Given the description of an element on the screen output the (x, y) to click on. 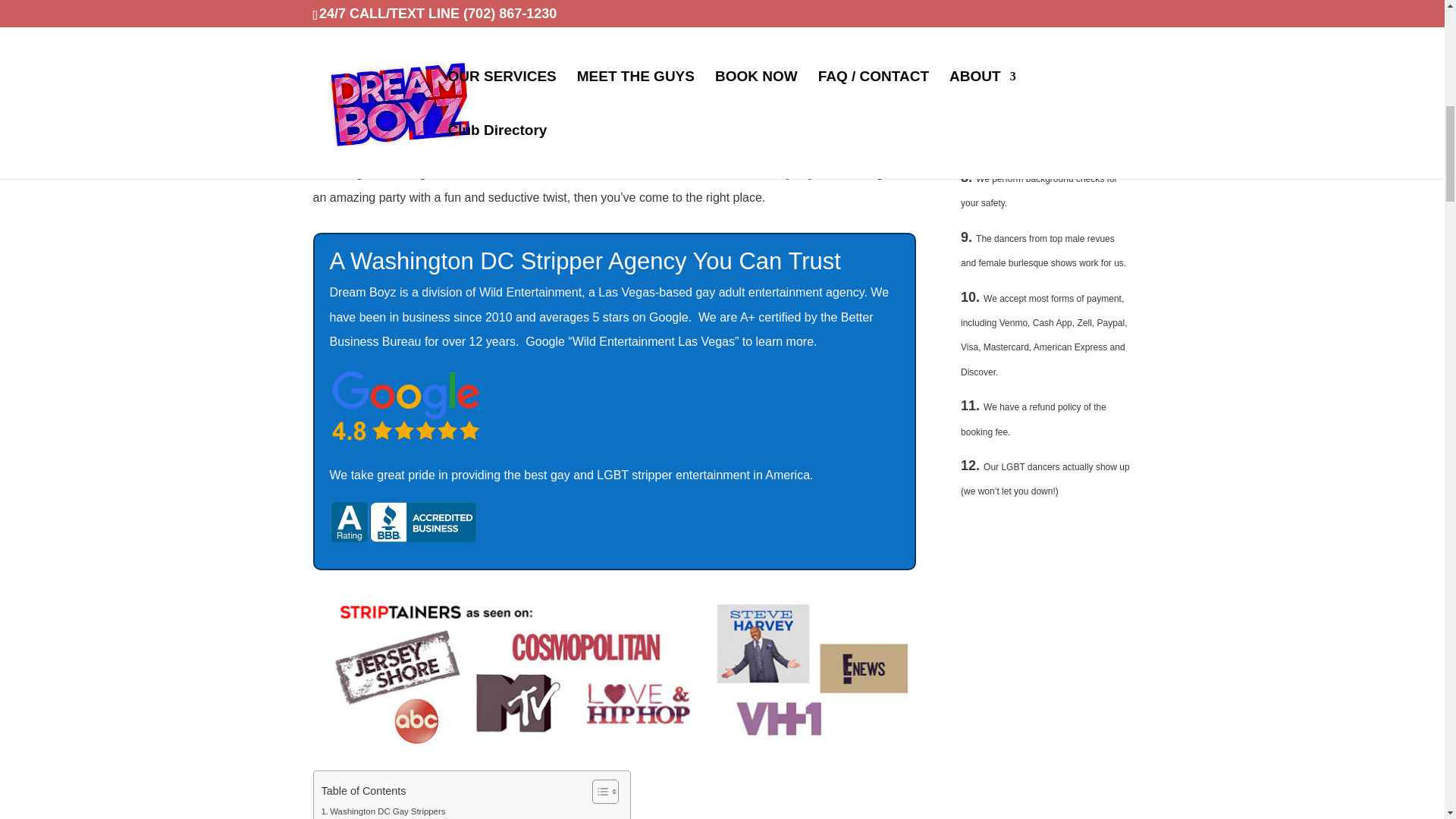
Gay and LGBT Strippers in the media (614, 670)
Strippers in Washington DC (614, 47)
Washington DC Gay Strippers (383, 811)
Washington DC Gay Strippers (383, 811)
